Given the description of an element on the screen output the (x, y) to click on. 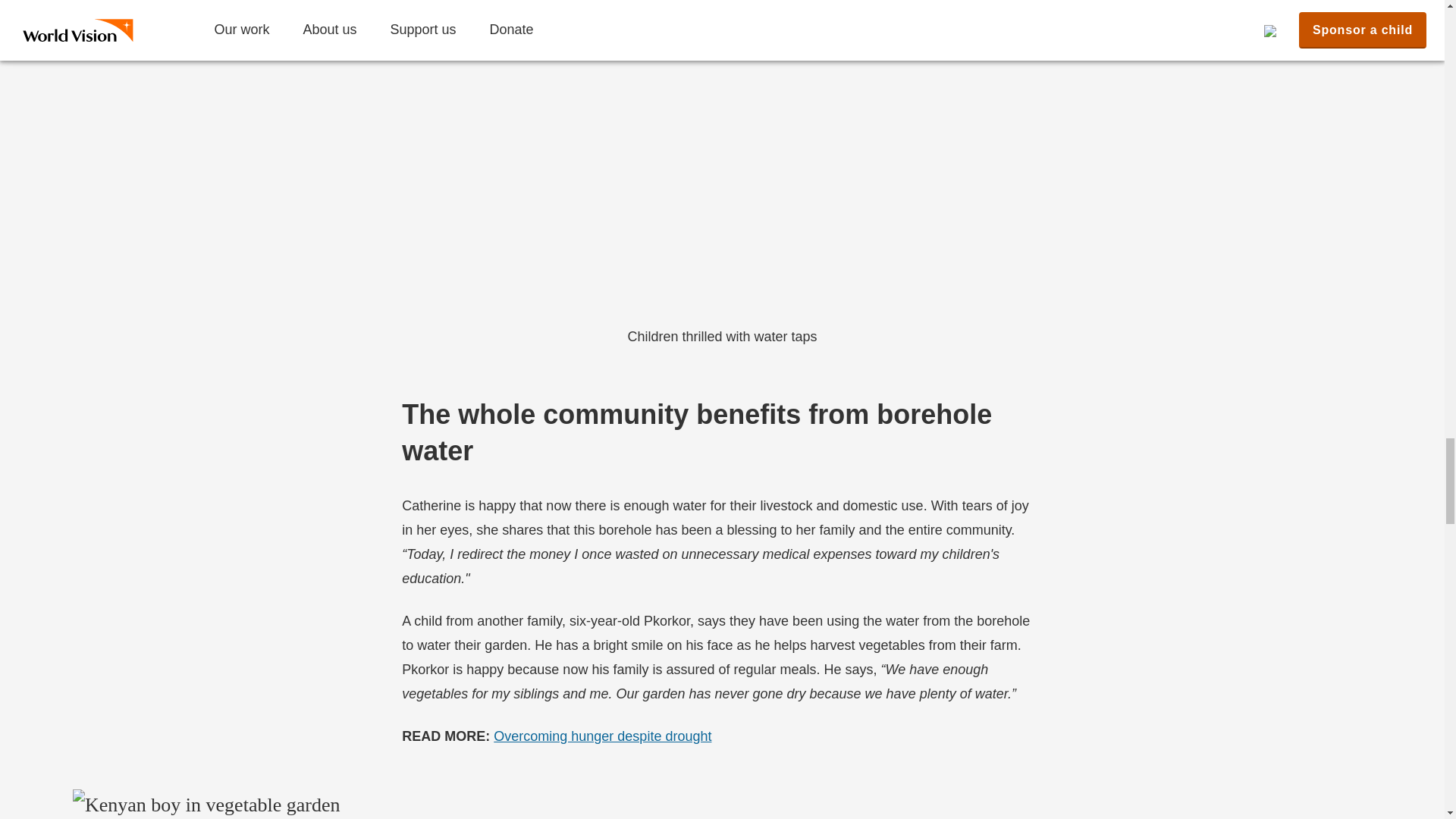
Overcoming hunger despite drought (602, 735)
